Given the description of an element on the screen output the (x, y) to click on. 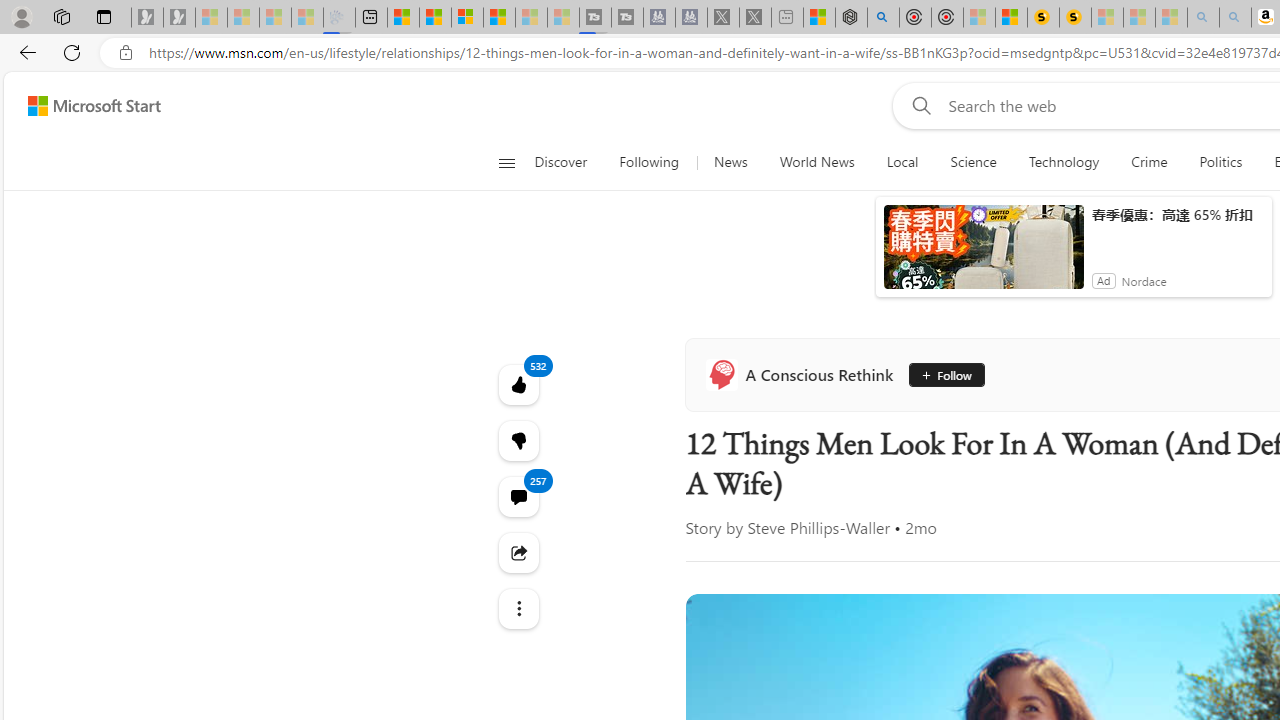
View comments 42 Comment (1244, 574)
Learning (1159, 267)
View comments 9 Comment (1234, 575)
36 Like (1149, 574)
More options (768, 631)
poe - Search (870, 17)
ABC News (526, 672)
Play (817, 265)
Dislike (1198, 574)
Discover Magazine (1138, 475)
Like (1140, 574)
Newsletter Sign Up - Sleeping (178, 17)
